Given the description of an element on the screen output the (x, y) to click on. 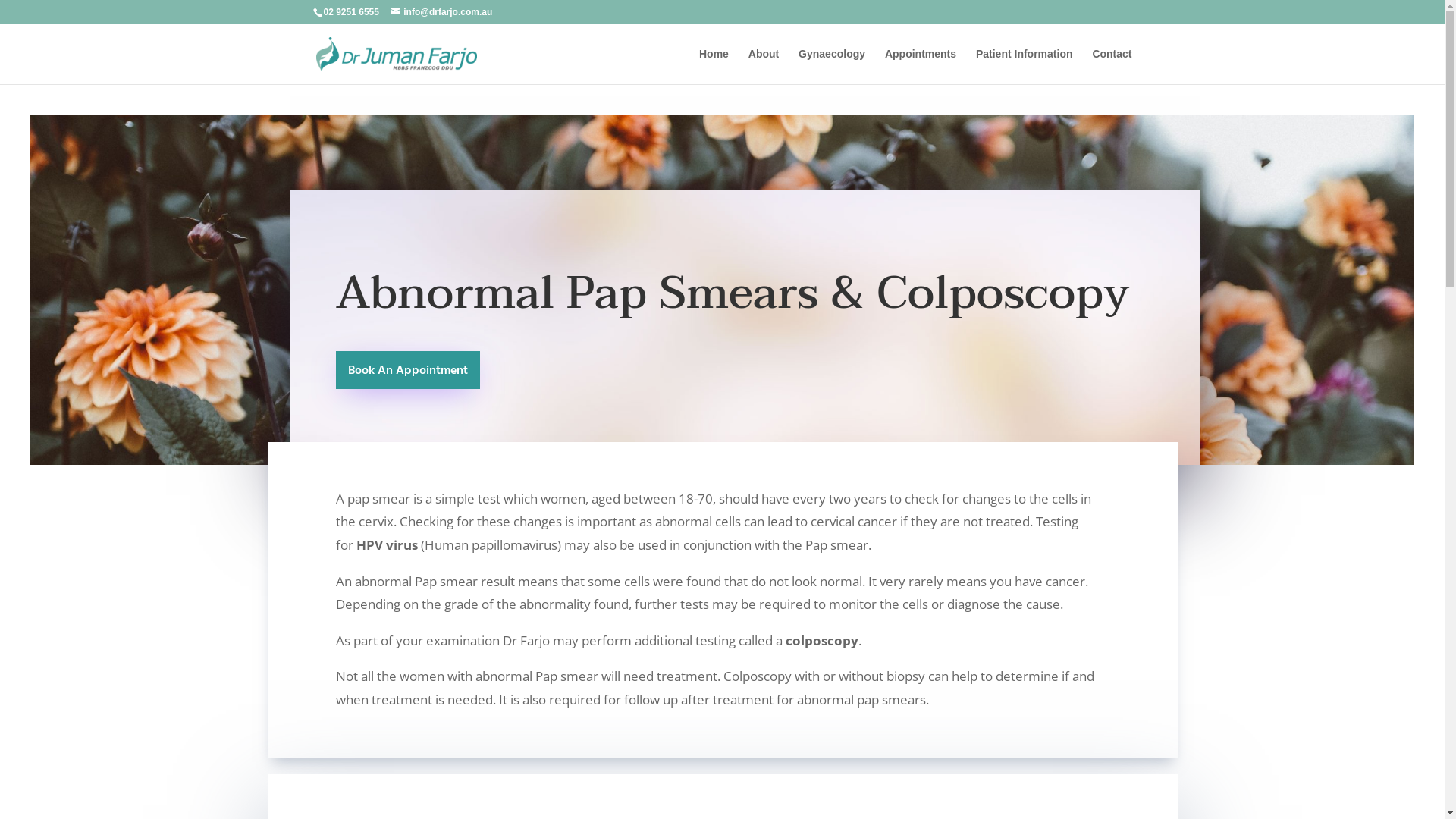
info@drfarjo.com.au Element type: text (441, 11)
Contact Element type: text (1111, 66)
Home Element type: text (713, 66)
Gynaecology Element type: text (831, 66)
Appointments Element type: text (920, 66)
Book An Appointment Element type: text (407, 370)
About Element type: text (763, 66)
Patient Information Element type: text (1024, 66)
